Given the description of an element on the screen output the (x, y) to click on. 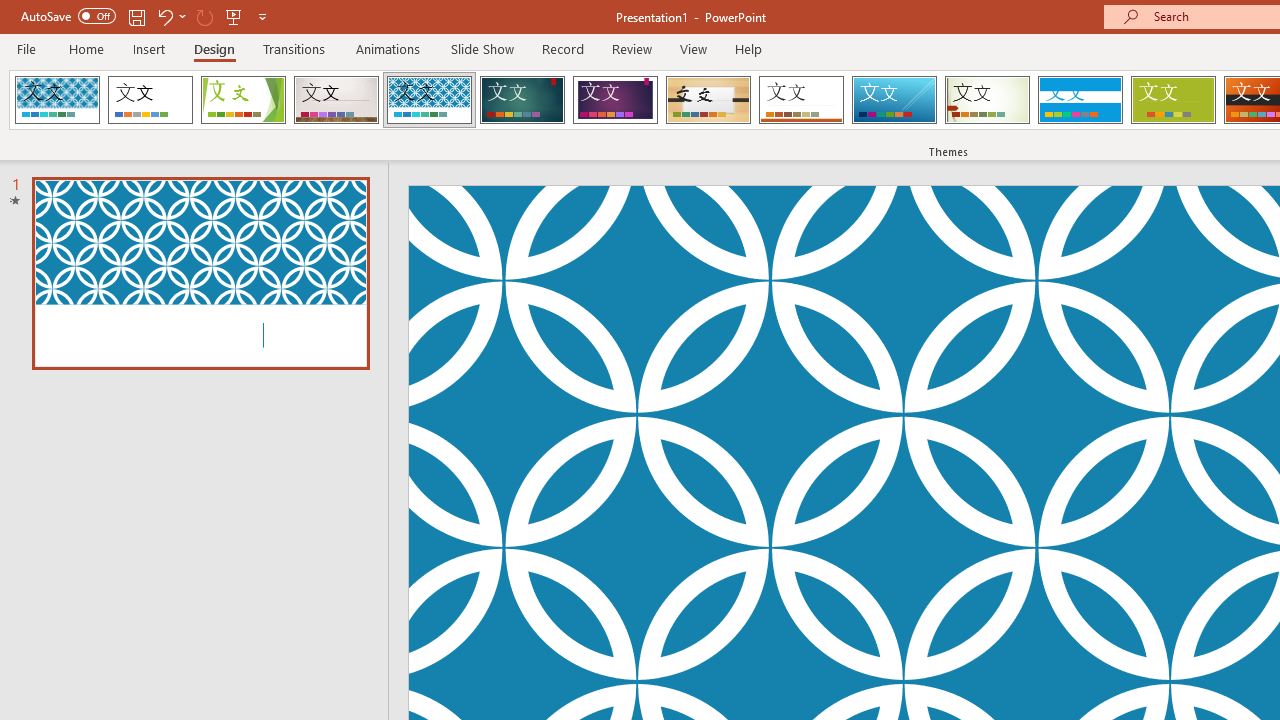
Integral Loading Preview... (429, 100)
Banded Loading Preview... (1080, 100)
Slide (200, 272)
